Given the description of an element on the screen output the (x, y) to click on. 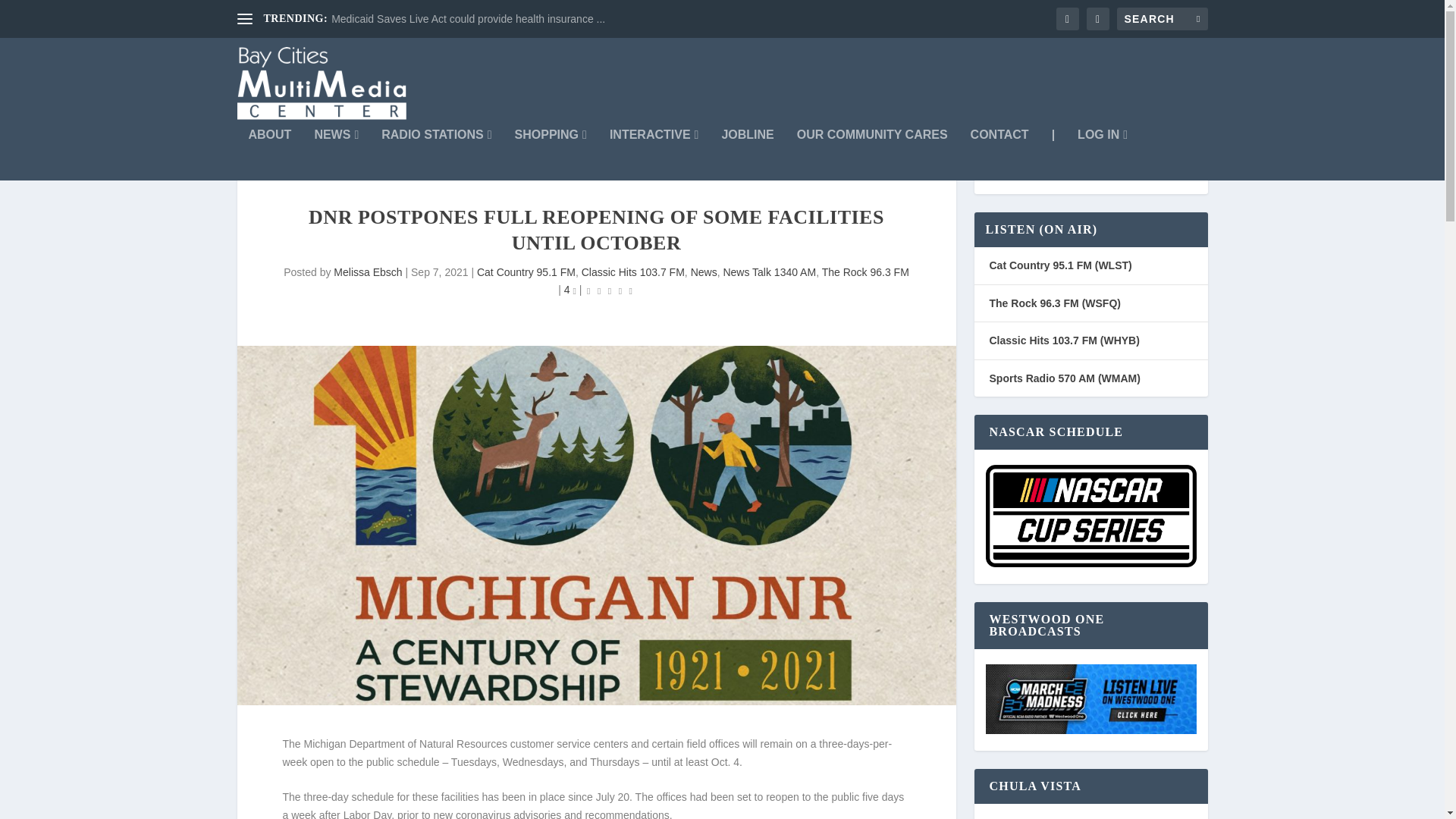
RADIO STATIONS (436, 154)
LOG IN (1101, 154)
Rating: 5.00 (609, 290)
Posts by Melissa Ebsch (367, 272)
INTERACTIVE (654, 154)
SHOPPING (550, 154)
CONTACT (1000, 154)
OUR COMMUNITY CARES (871, 154)
Search for: (1161, 18)
Medicaid Saves Live Act could provide health insurance ... (468, 19)
